Given the description of an element on the screen output the (x, y) to click on. 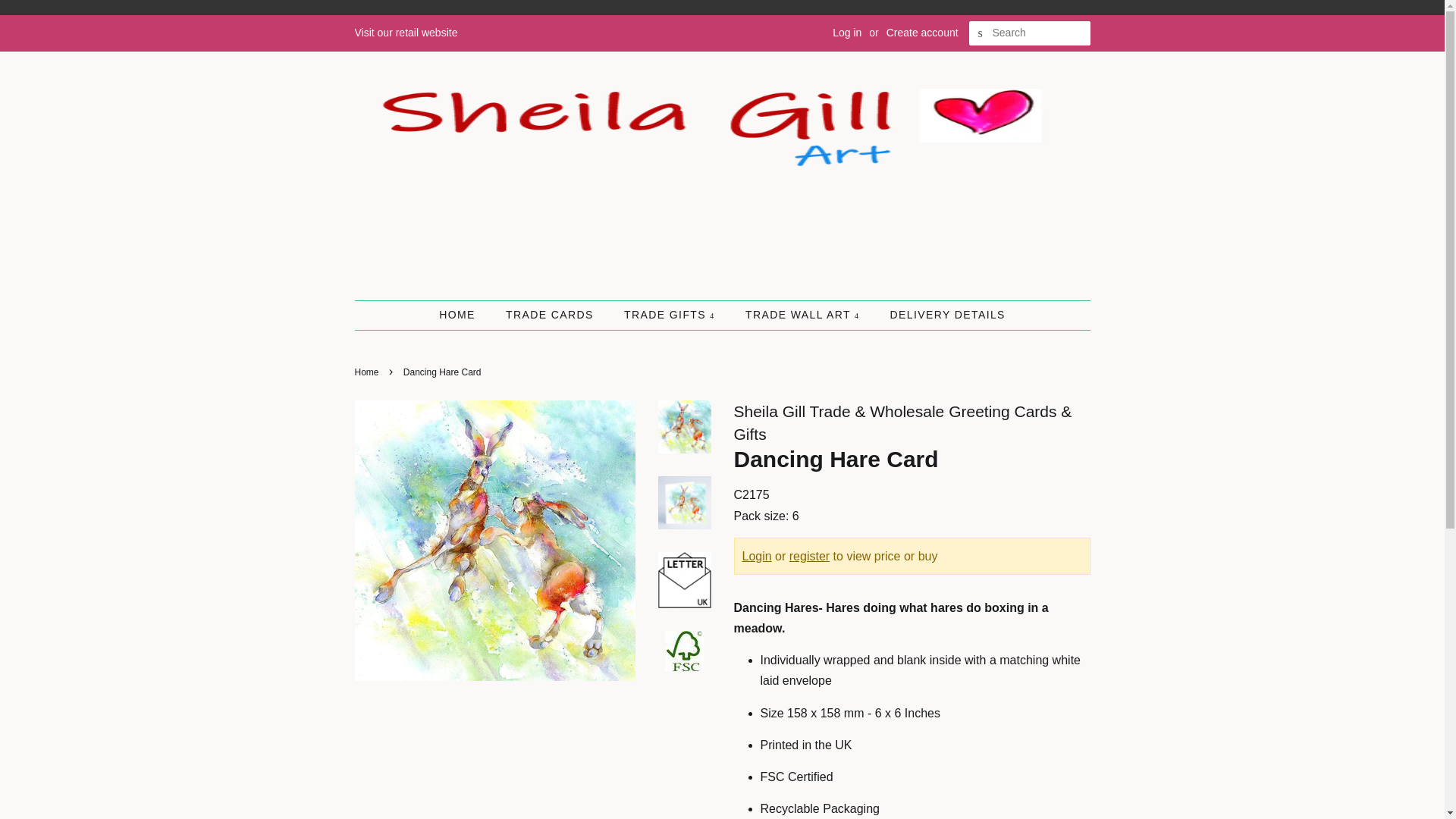
DELIVERY DETAILS (940, 315)
TRADE GIFTS (671, 315)
Create account (922, 32)
Back to the frontpage (368, 371)
Visit our retail website (406, 32)
TRADE CARDS (551, 315)
SEARCH (980, 33)
Log in (846, 32)
TRADE WALL ART (804, 315)
HOME (464, 315)
